Given the description of an element on the screen output the (x, y) to click on. 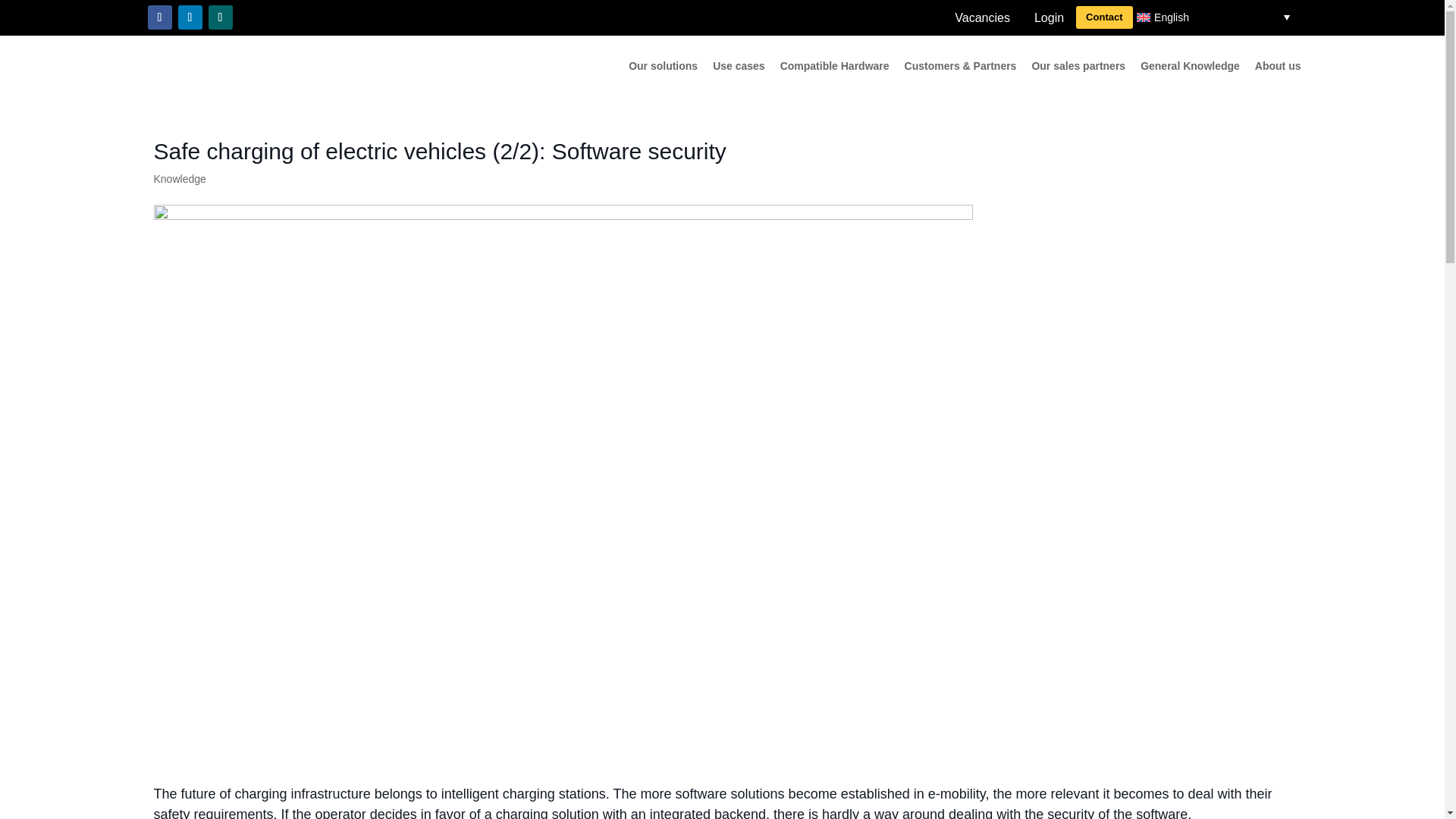
Our sales partners (1077, 68)
Follow on LinkedIn (189, 16)
About us (1278, 68)
Follow on XING (219, 16)
English (1214, 16)
Our solutions (662, 68)
General Knowledge (1190, 68)
Vacancies (982, 17)
Use cases (739, 68)
Compatible Hardware (834, 68)
